Given the description of an element on the screen output the (x, y) to click on. 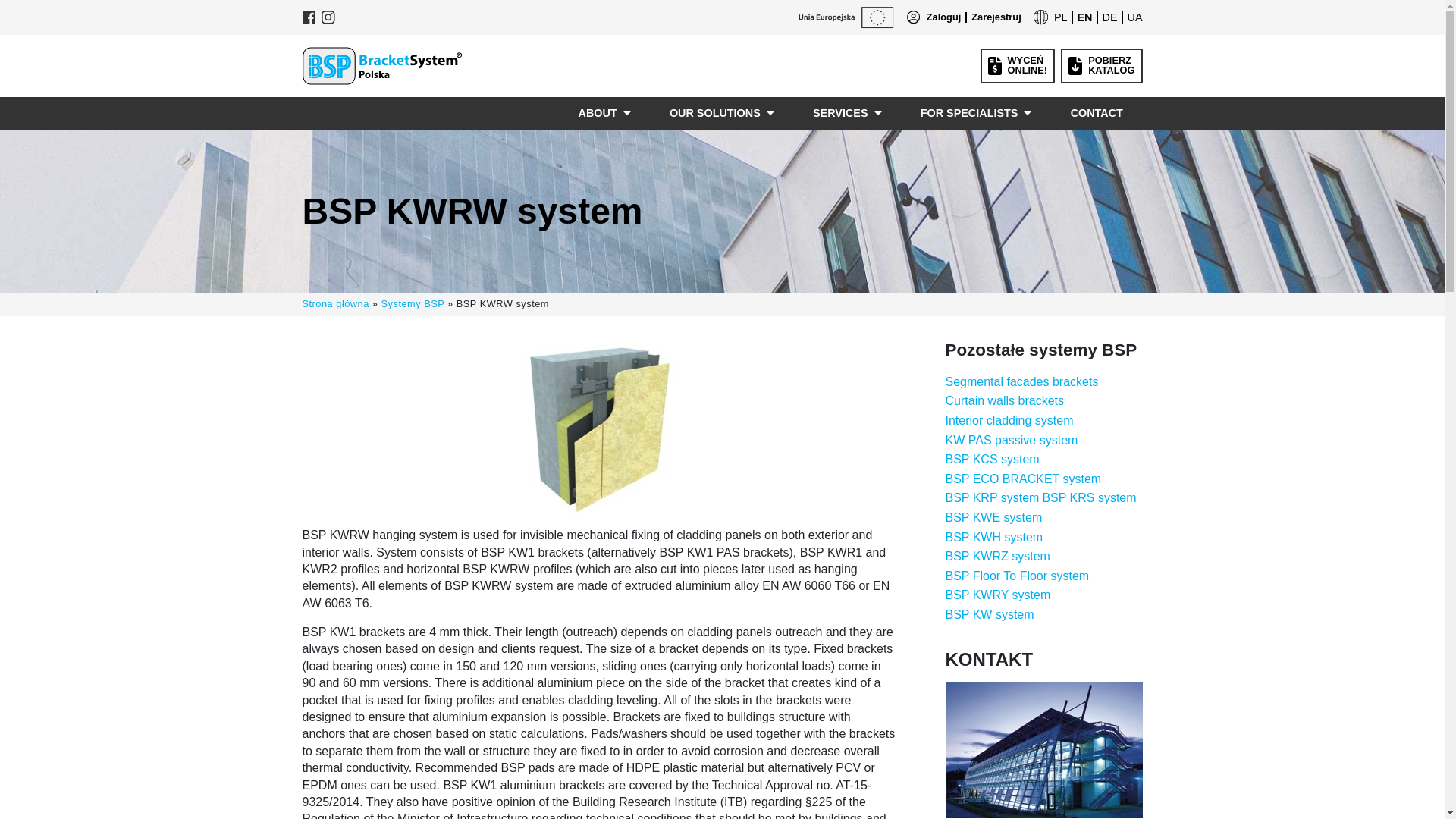
PL (1101, 65)
Ukrainian (1060, 17)
English (1133, 17)
DE (1084, 17)
Zaloguj (1110, 17)
polski (943, 17)
Zarejestruj (1060, 17)
UA (992, 17)
SERVICES (1133, 17)
